Given the description of an element on the screen output the (x, y) to click on. 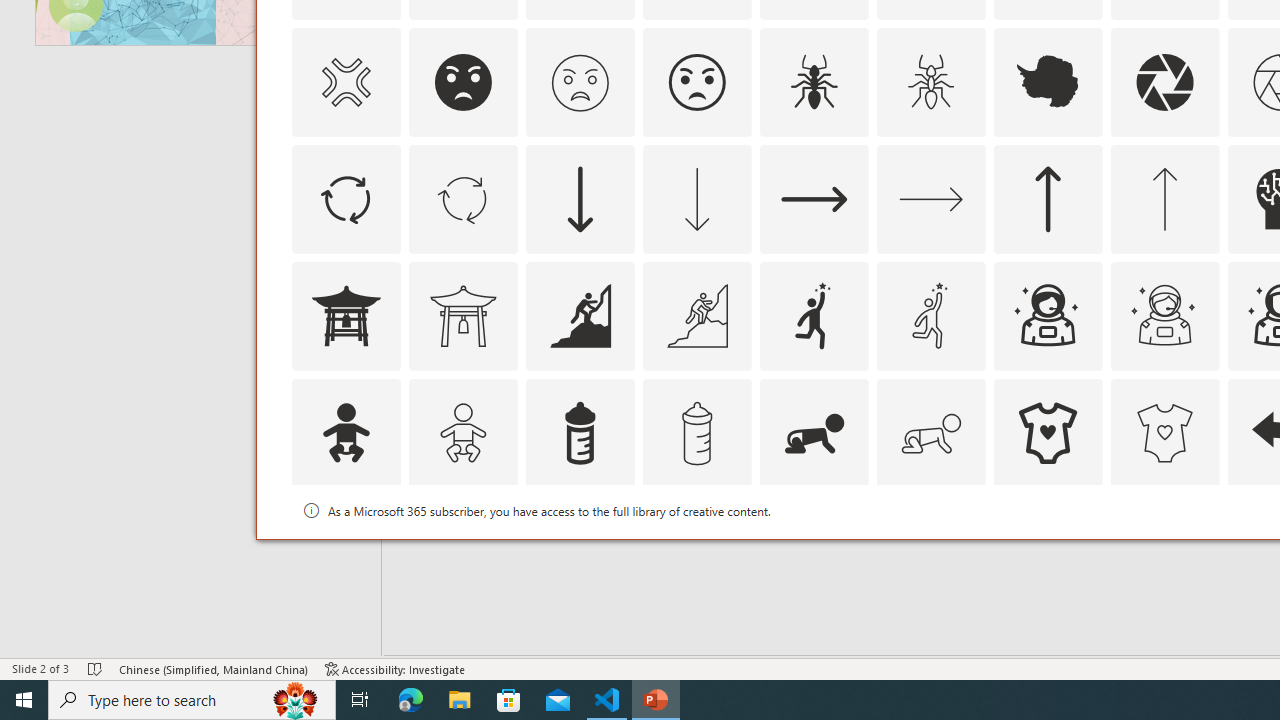
AutomationID: Icons_Ant_M (930, 82)
AutomationID: Icons_AngerSymbol_M (345, 82)
AutomationID: Icons_Badge3_M (813, 550)
AutomationID: Icons_Ant (813, 82)
AutomationID: Icons_AngryFace_M (579, 82)
AutomationID: Icons_BabyCrawling_M (930, 432)
AutomationID: Icons_Badge10_M (345, 550)
AutomationID: Icons_ArrowCircle (345, 198)
AutomationID: Icons_Aspiration_M (696, 316)
